Given the description of an element on the screen output the (x, y) to click on. 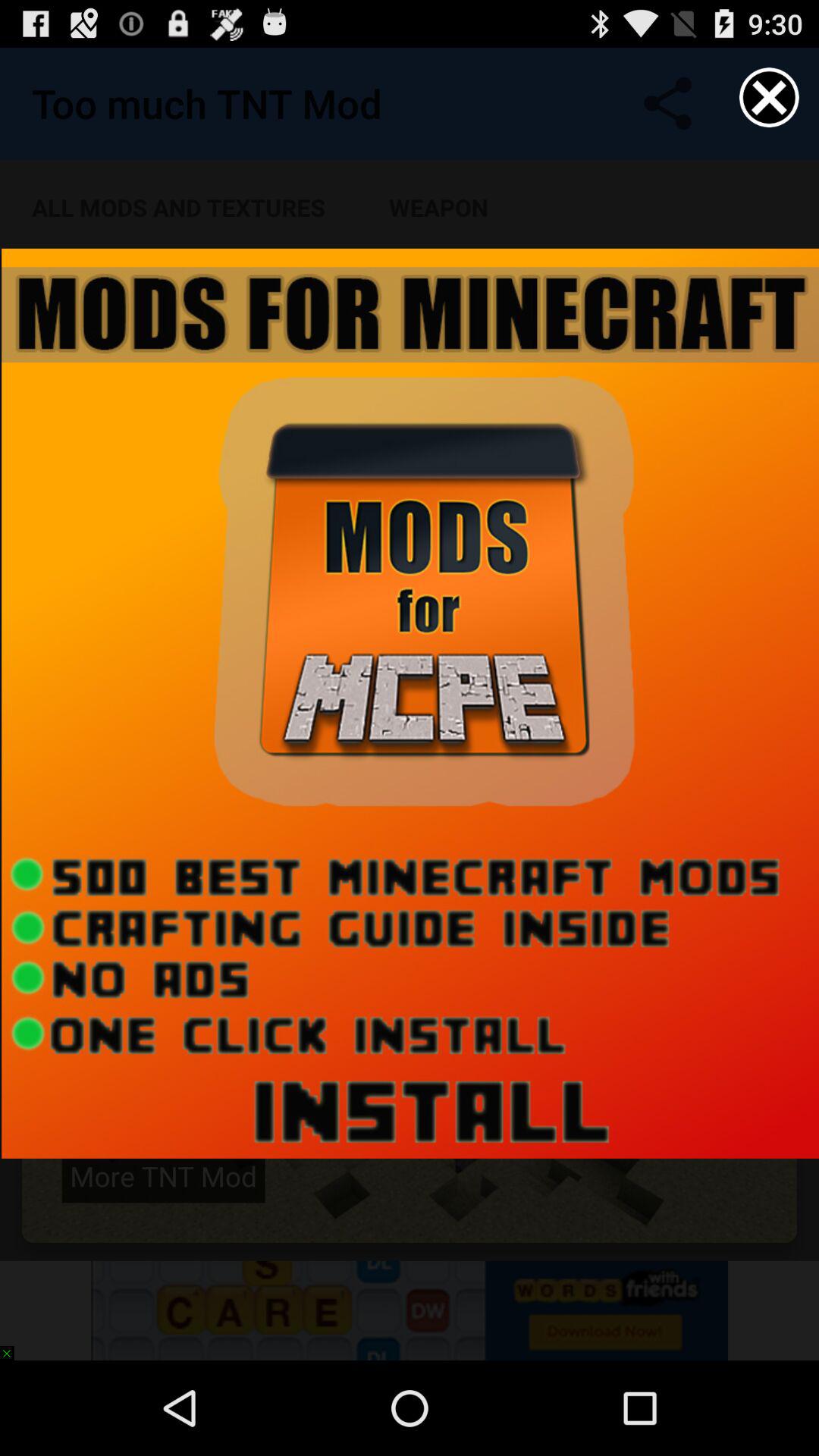
press exit (769, 97)
